Given the description of an element on the screen output the (x, y) to click on. 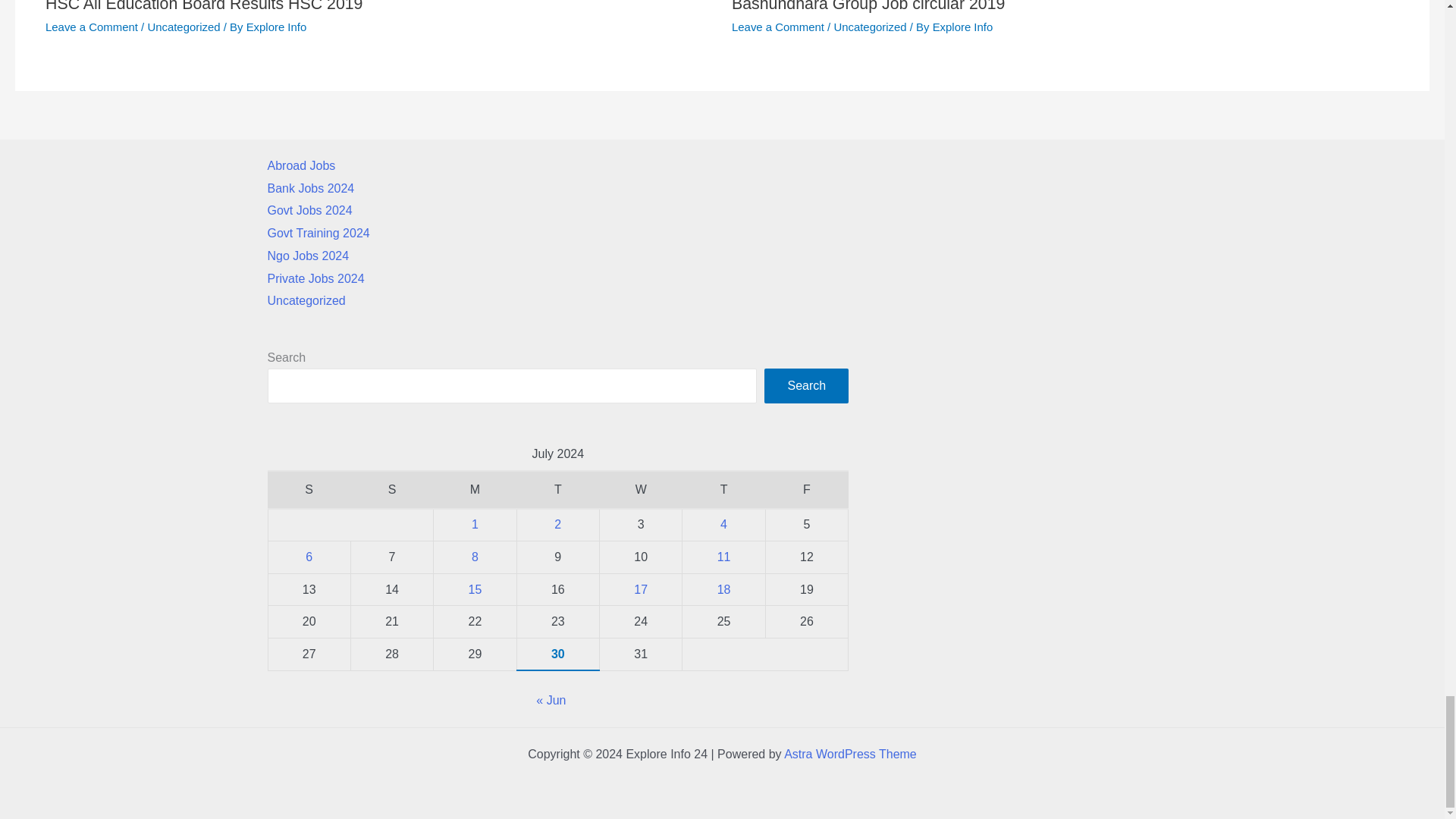
Uncategorized (183, 26)
Bashundhara Group Job circular 2019 (868, 6)
HSC All Education Board Results HSC 2019 (203, 6)
Sunday (391, 489)
View all posts by Explore Info (276, 26)
Thursday (723, 489)
Explore Info (962, 26)
Uncategorized (868, 26)
Govt Jobs 2024 (309, 210)
Friday (806, 489)
Leave a Comment (91, 26)
Leave a Comment (778, 26)
View all posts by Explore Info (962, 26)
Bank Jobs 2024 (309, 187)
Wednesday (639, 489)
